Given the description of an element on the screen output the (x, y) to click on. 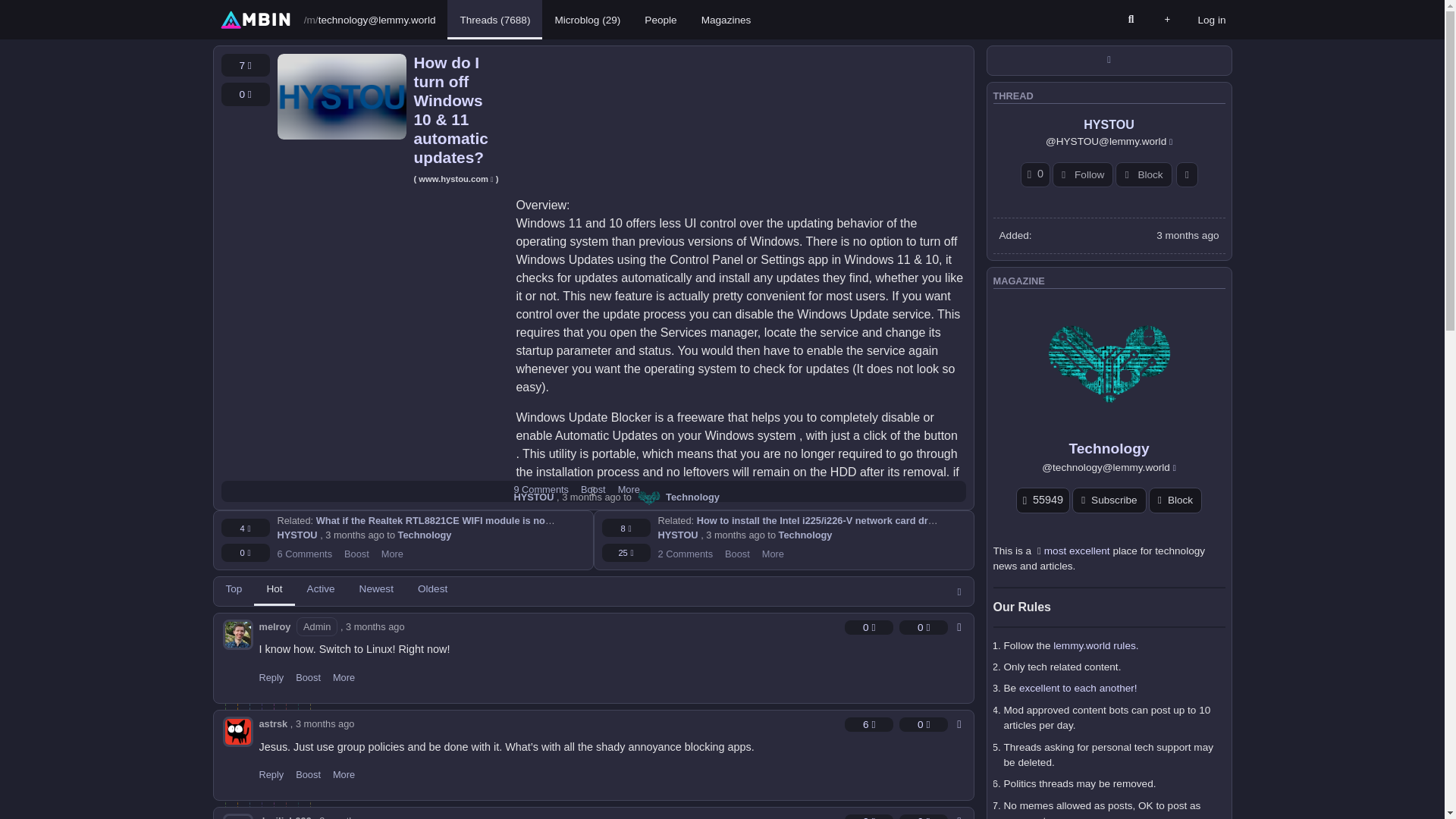
www.hystou.com (457, 178)
Reduce (245, 93)
Boost (592, 489)
Favorite (245, 527)
More (628, 489)
Homepage (254, 19)
Add (1166, 19)
Reduce (245, 552)
Log in (1211, 19)
Favorite (626, 527)
Search (1130, 19)
Technology (676, 496)
7 (245, 65)
Magazines (725, 19)
Favorite (245, 65)
